Given the description of an element on the screen output the (x, y) to click on. 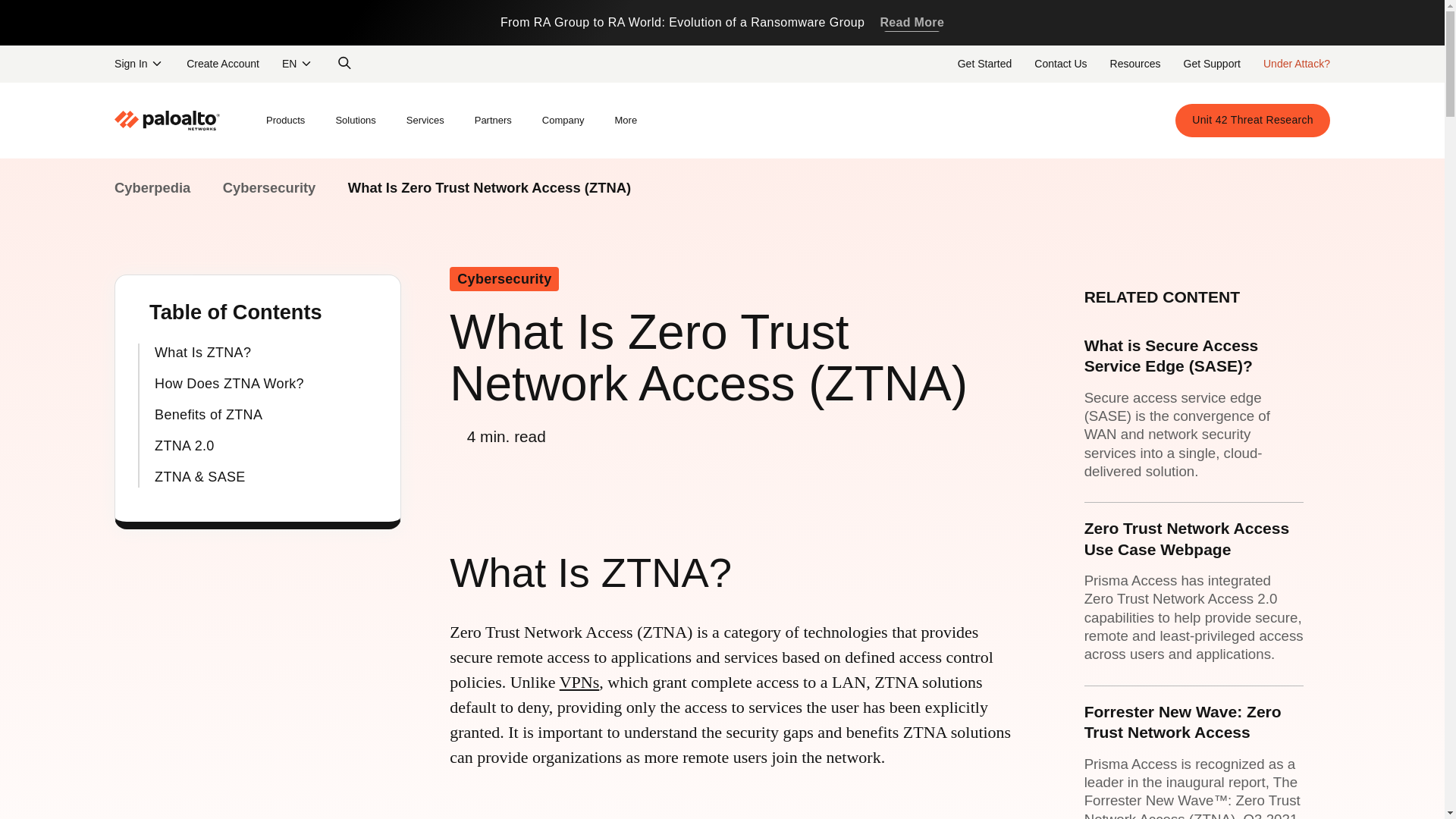
Company (563, 120)
Contact Us (1060, 63)
More (625, 120)
Services (425, 120)
Create Account (222, 63)
Partners (493, 120)
Get Started (984, 63)
Resources (1135, 63)
Read More (911, 22)
Solutions (355, 120)
EN (297, 63)
Under Attack? (1296, 63)
Sign In (138, 63)
YouTube video player (662, 800)
Products (285, 120)
